Given the description of an element on the screen output the (x, y) to click on. 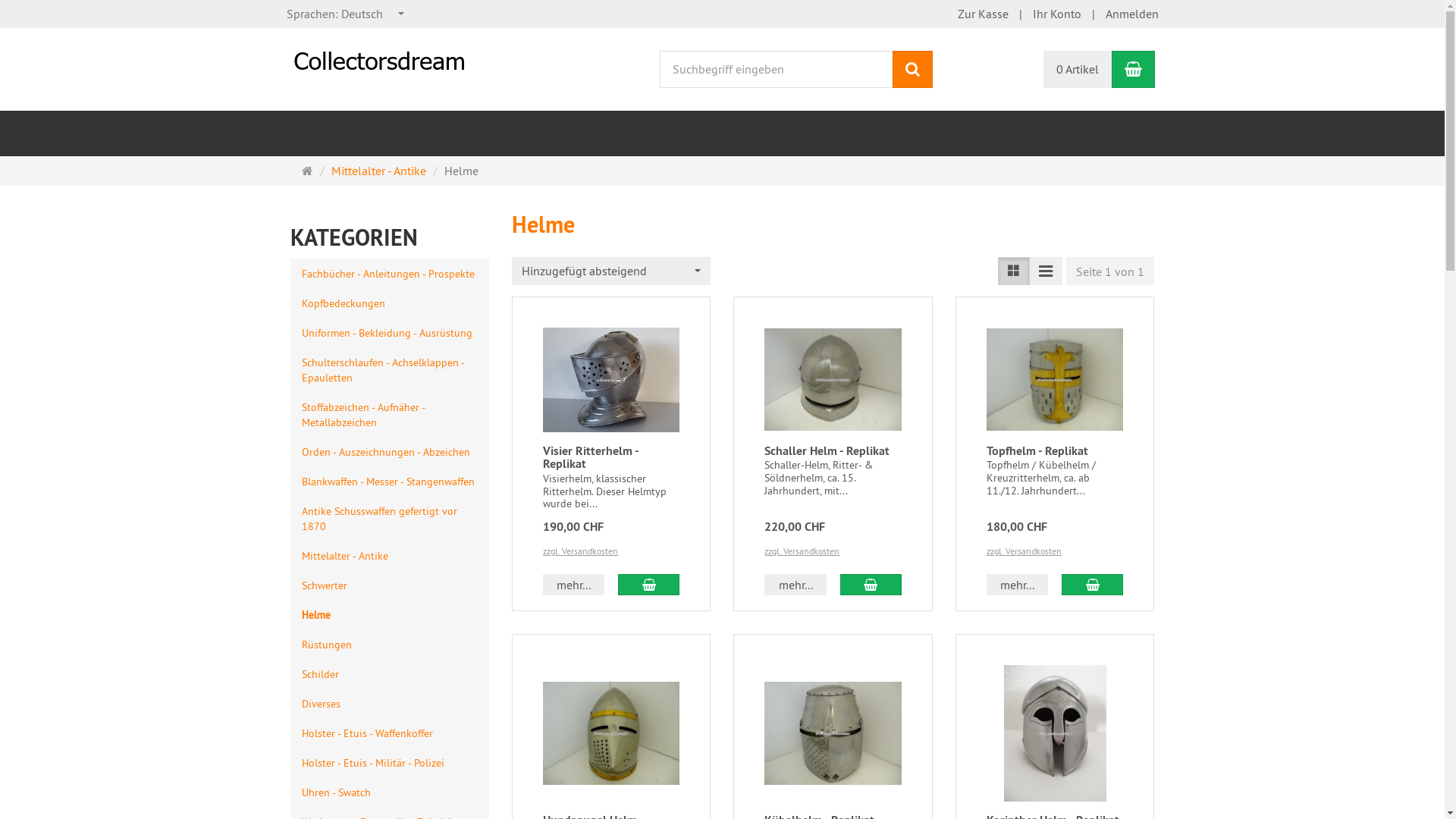
Orden - Auszeichnungen - Abzeichen Element type: text (389, 451)
Blankwaffen - Messer - Stangenwaffen Element type: text (389, 480)
Antike Schusswaffen gefertigt vor 1870 Element type: text (389, 517)
Zur Kasse Element type: text (982, 14)
Diverses Element type: text (389, 703)
Helme Element type: text (389, 614)
Anmelden Element type: text (1132, 14)
mehr... Element type: text (794, 584)
Mittelalter - Antike Element type: text (389, 555)
Warenkorb Element type: text (1132, 68)
zzgl. Versandkosten Element type: text (580, 550)
Sprachen: Deutsch Element type: text (346, 14)
Mittelalter - Antike Element type: text (377, 170)
Schwerter Element type: text (389, 584)
zzgl. Versandkosten Element type: text (1023, 550)
mehr... Element type: text (1017, 584)
Suchen Element type: text (912, 68)
Startseite Element type: text (307, 170)
Topfhelm - Replikat Element type: text (1037, 450)
zzgl. Versandkosten Element type: text (801, 550)
Schilder Element type: text (389, 673)
Holster - Etuis - Waffenkoffer Element type: text (389, 732)
Collectorsdream GmbH Element type: hover (380, 53)
mehr... Element type: text (573, 584)
Schulterschlaufen - Achselklappen - Epauletten Element type: text (389, 369)
Seite 1 von 1 Element type: text (1110, 271)
Kopfbedeckungen Element type: text (389, 302)
Uhren - Swatch Element type: text (389, 791)
Visier Ritterhelm - Replikat Element type: text (590, 457)
Ihr Konto Element type: text (1056, 14)
0 Artikel Element type: text (1077, 68)
Schaller Helm - Replikat Element type: text (826, 450)
